Given the description of an element on the screen output the (x, y) to click on. 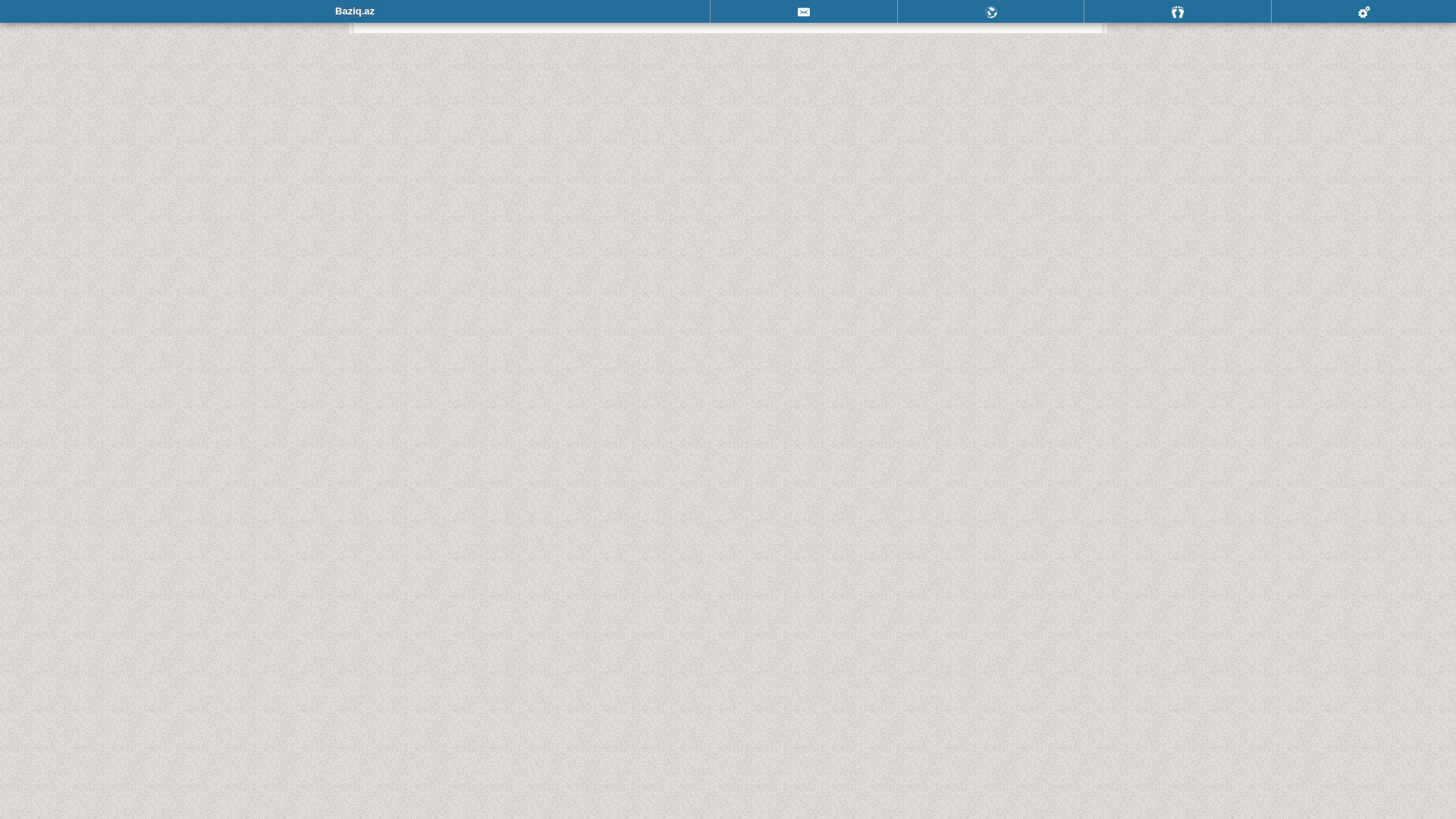
Qonaqlar Element type: hover (1177, 11)
Mesajlar Element type: hover (803, 11)
